Given the description of an element on the screen output the (x, y) to click on. 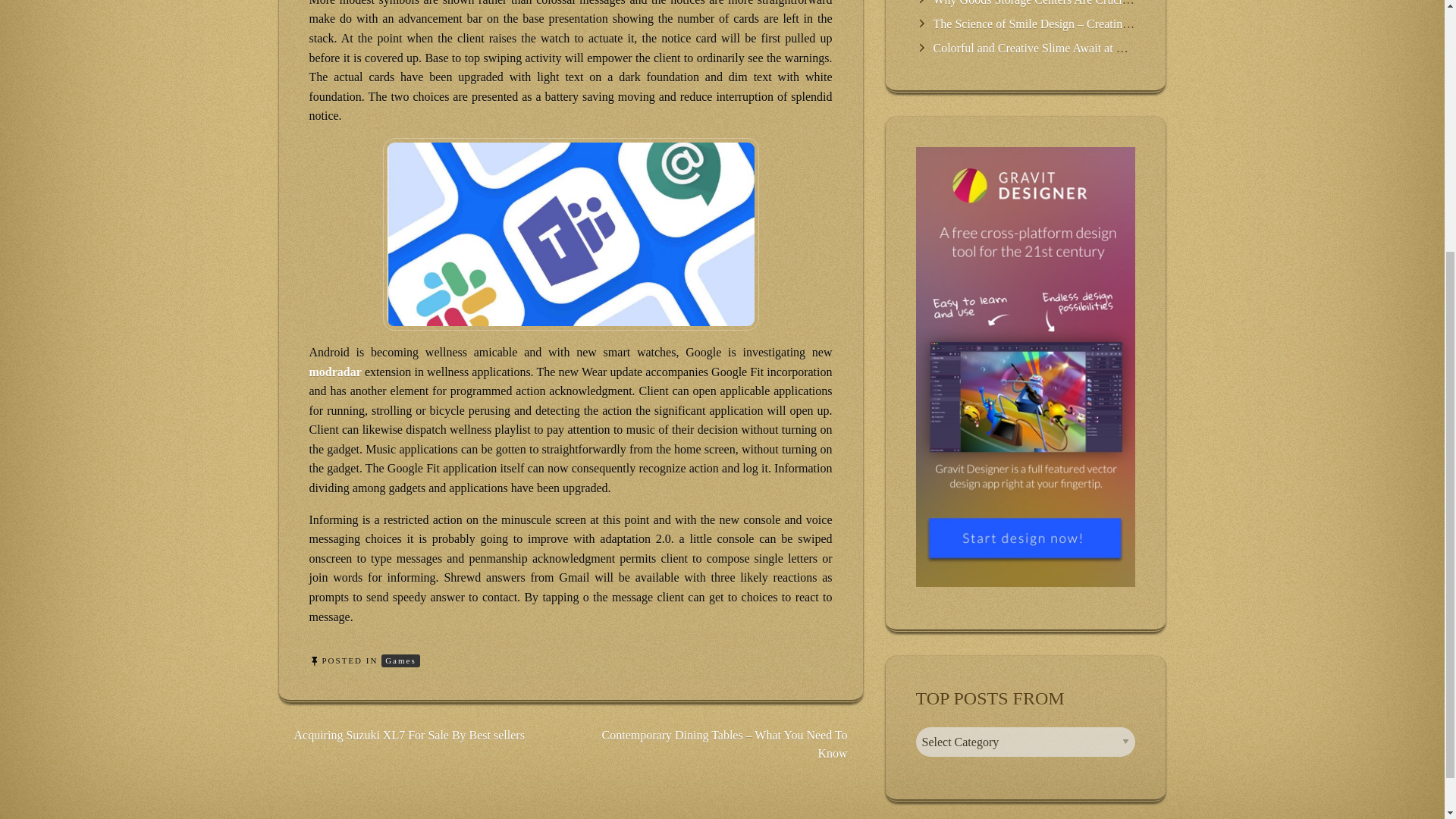
Acquiring Suzuki XL7 For Sale By Best sellers (409, 735)
modradar (334, 371)
Colorful and Creative Slime Await at Our Variety Shop (1066, 47)
Games (400, 660)
